Given the description of an element on the screen output the (x, y) to click on. 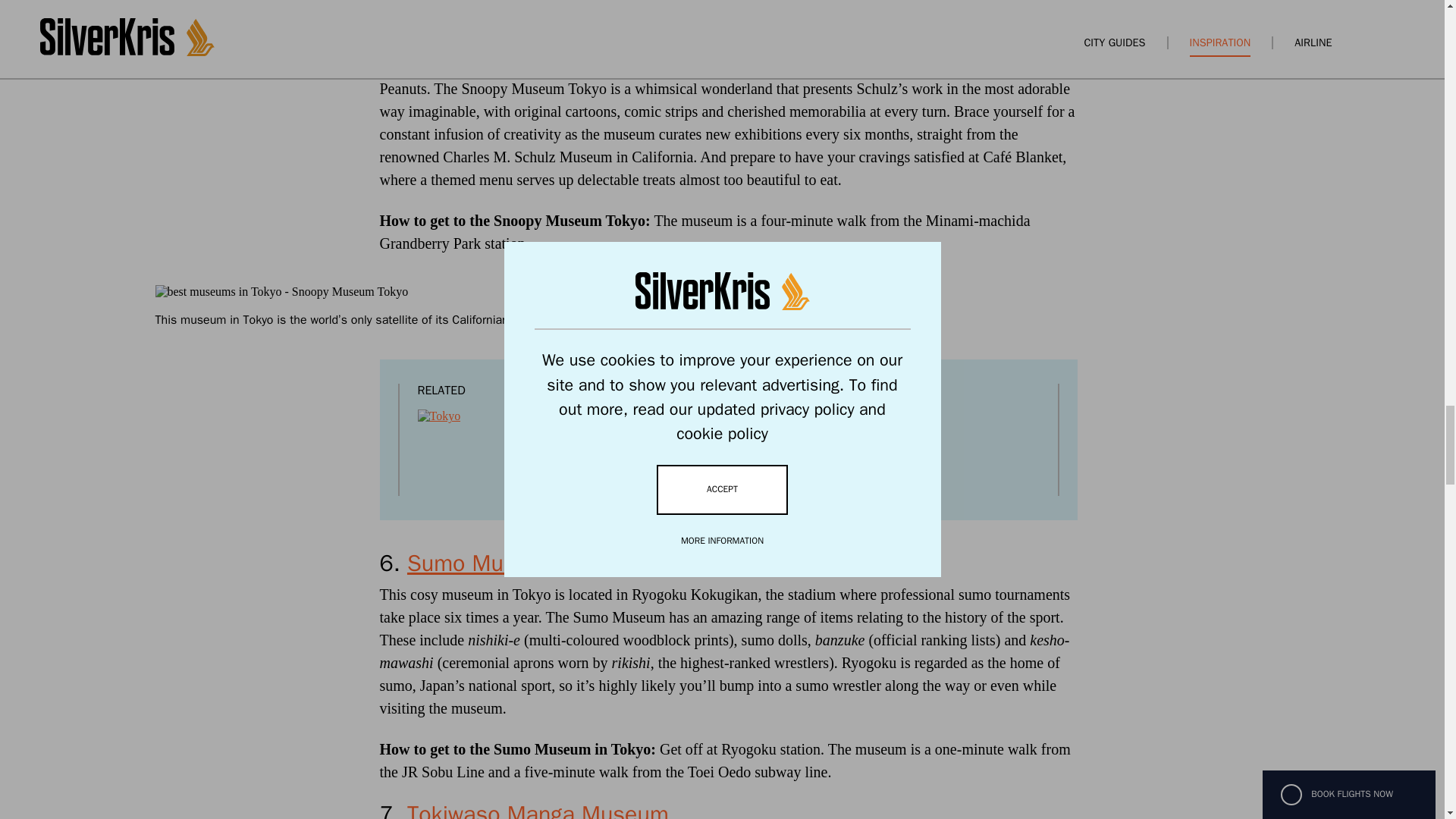
Tokiwaso Manga Museum (537, 809)
Snoopy Museum Tokyo (523, 2)
Sumo Museum (483, 563)
SEE CITY GUIDE (796, 480)
Tokyo (765, 421)
